Given the description of an element on the screen output the (x, y) to click on. 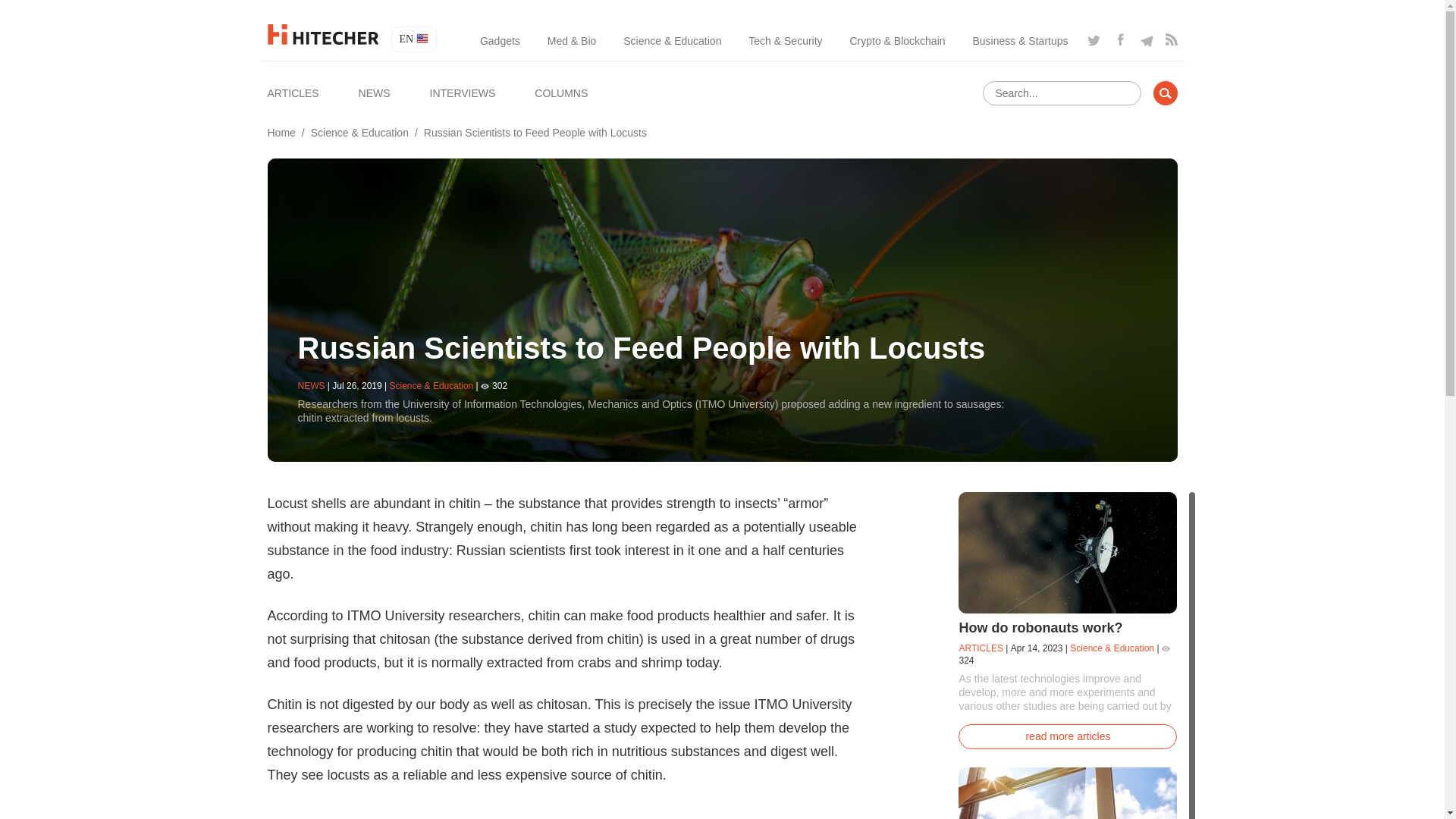
Jul 26, 2019 (356, 385)
Gadgets (499, 40)
Search Results for: (1061, 93)
COLUMNS (561, 92)
Home (280, 132)
ARTICLES (292, 92)
read more articles (1067, 736)
NEWS (374, 92)
How do robonauts work? (1040, 627)
INTERVIEWS (462, 92)
Apr 14, 2023 (1036, 647)
